Given the description of an element on the screen output the (x, y) to click on. 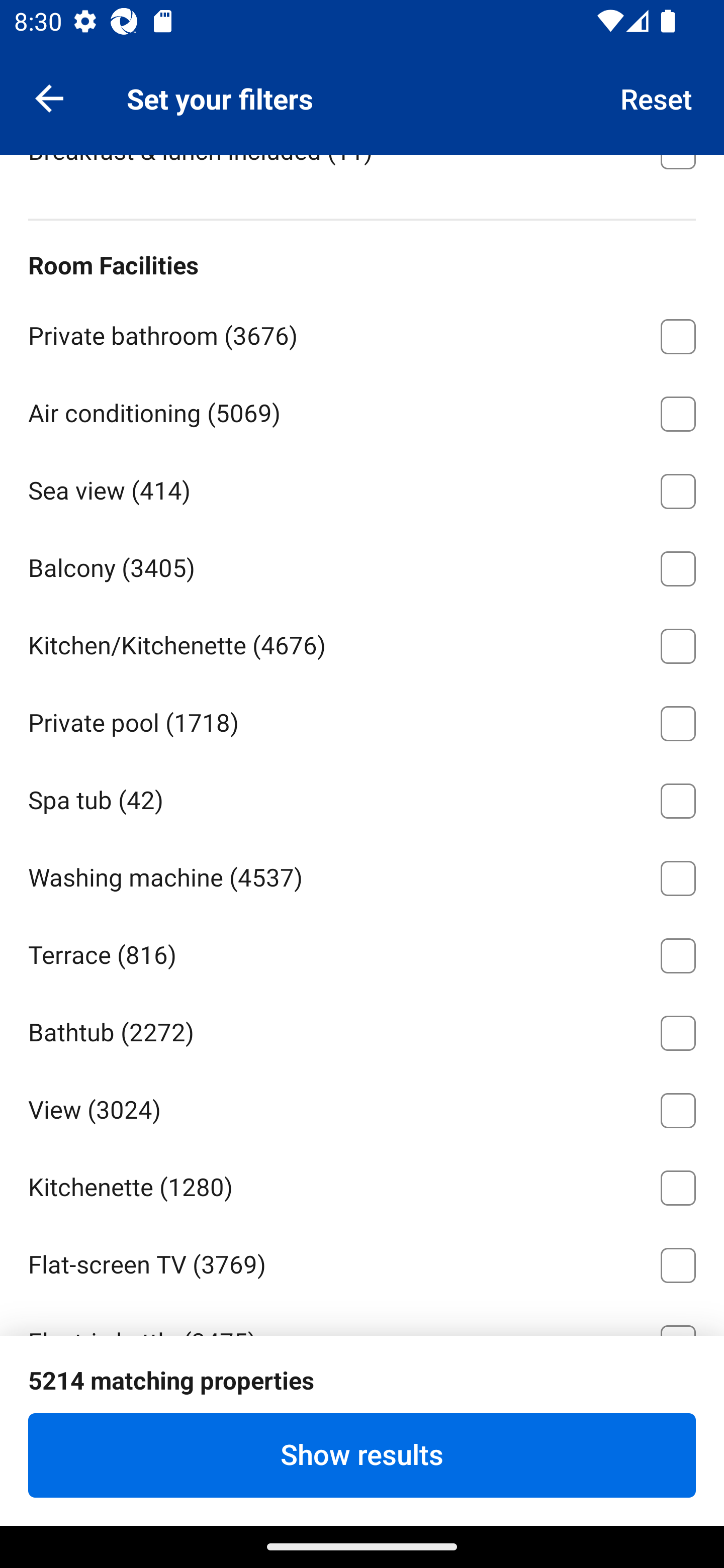
Navigate up (49, 97)
Reset (656, 97)
Private bathroom ⁦(3676) (361, 332)
Air conditioning ⁦(5069) (361, 410)
Sea view ⁦(414) (361, 488)
Balcony ⁦(3405) (361, 564)
Kitchen/Kitchenette ⁦(4676) (361, 642)
Private pool ⁦(1718) (361, 720)
Spa tub ⁦(42) (361, 796)
Washing machine ⁦(4537) (361, 874)
Terrace ⁦(816) (361, 952)
Bathtub ⁦(2272) (361, 1028)
View ⁦(3024) (361, 1106)
Kitchenette ⁦(1280) (361, 1184)
Flat-screen TV ⁦(3769) (361, 1261)
Show results (361, 1454)
